Given the description of an element on the screen output the (x, y) to click on. 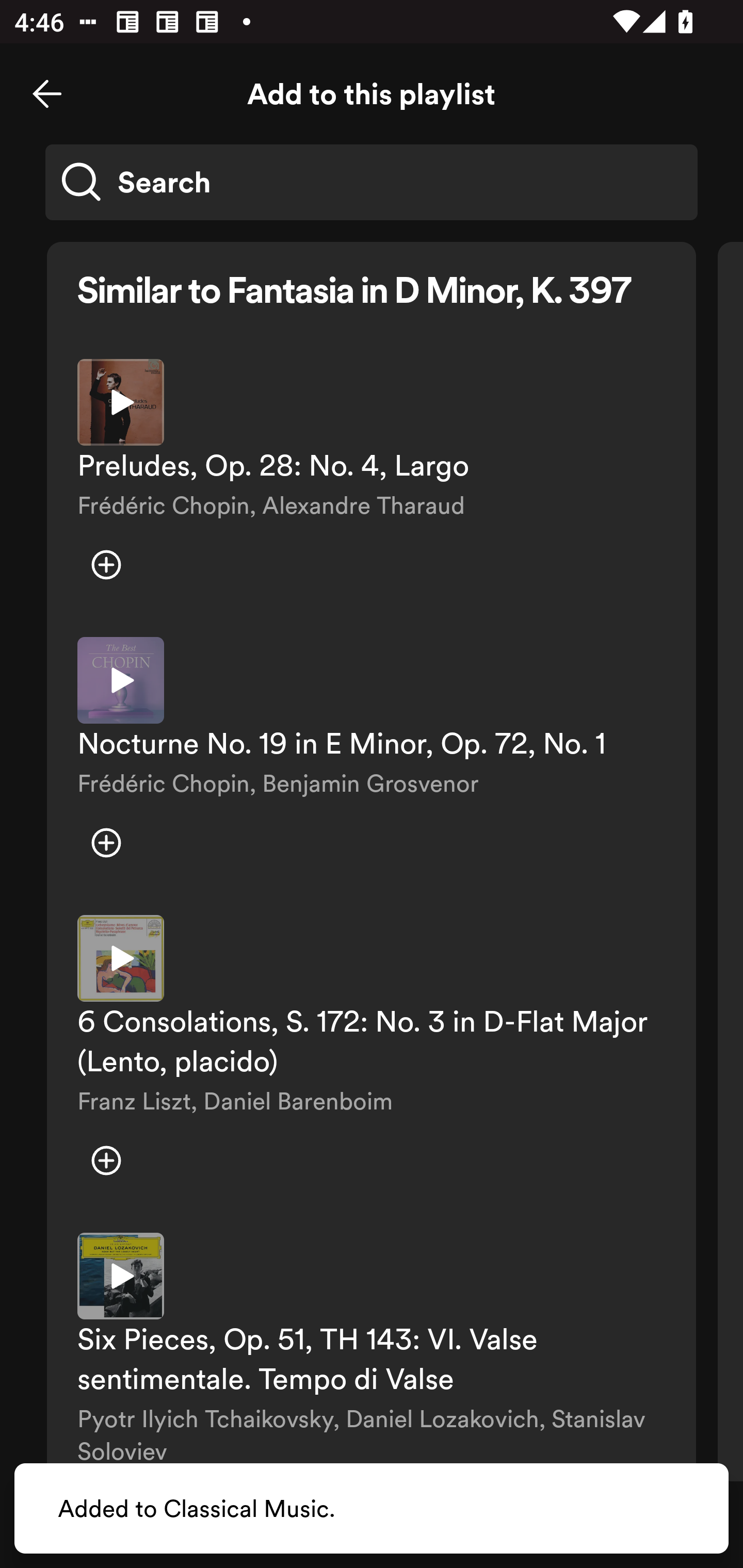
Close (46, 93)
Search (371, 181)
Play preview (120, 402)
Add item (106, 565)
Play preview (120, 680)
Add item (106, 842)
Play preview (120, 958)
Add item (106, 1160)
Play preview (120, 1275)
